Given the description of an element on the screen output the (x, y) to click on. 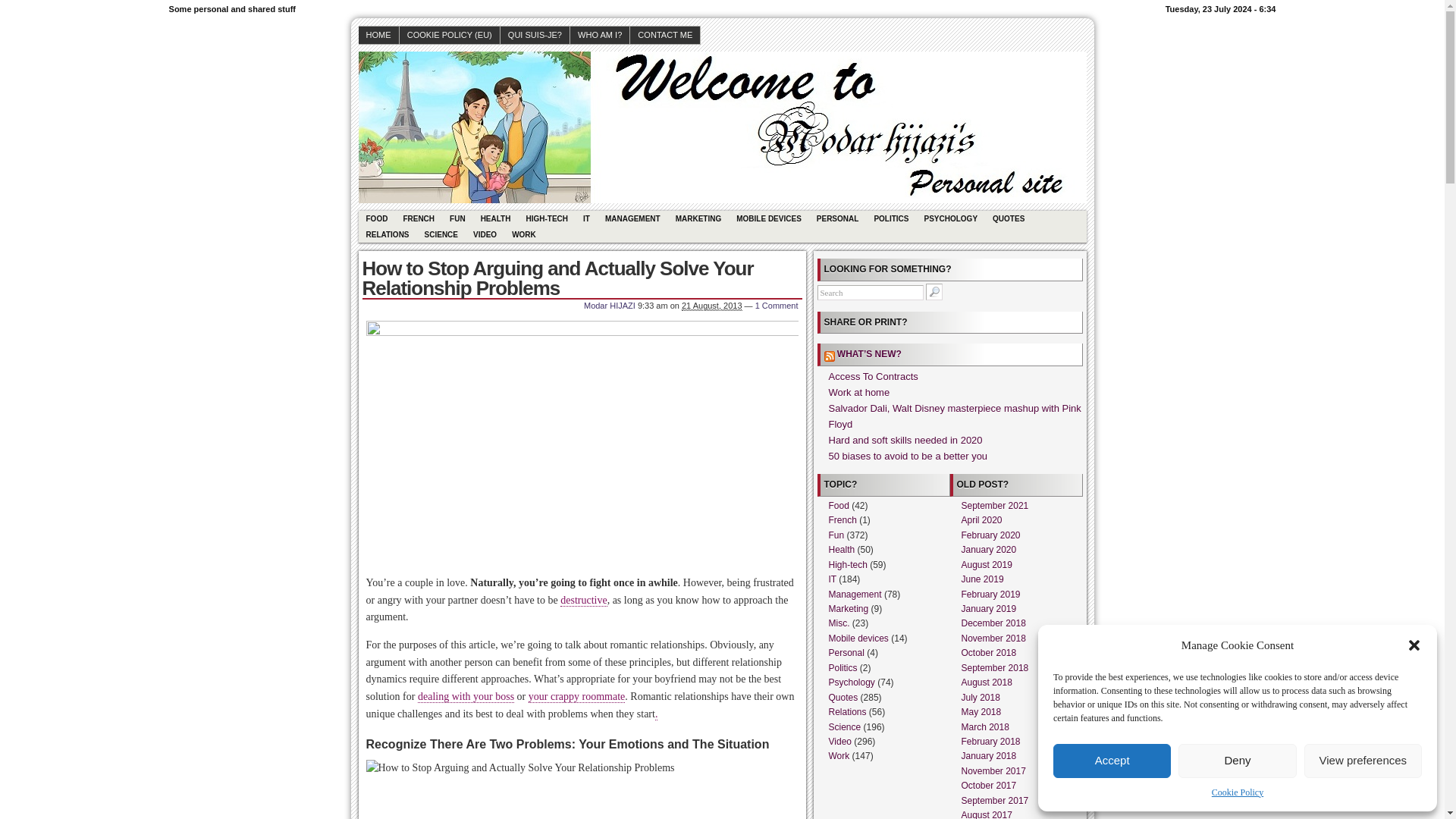
HOME (378, 34)
SCIENCE (440, 234)
View preferences (1363, 760)
IT (585, 218)
QUI SUIS-JE? (535, 34)
MARKETING (698, 218)
Cookie Policy (1237, 792)
QUOTES (1008, 218)
21 August, 2013 - 9:33 am (711, 306)
MOBILE DEVICES (769, 218)
FOOD (376, 218)
WORK (523, 234)
MANAGEMENT (632, 218)
PSYCHOLOGY (950, 218)
HEALTH (495, 218)
